Given the description of an element on the screen output the (x, y) to click on. 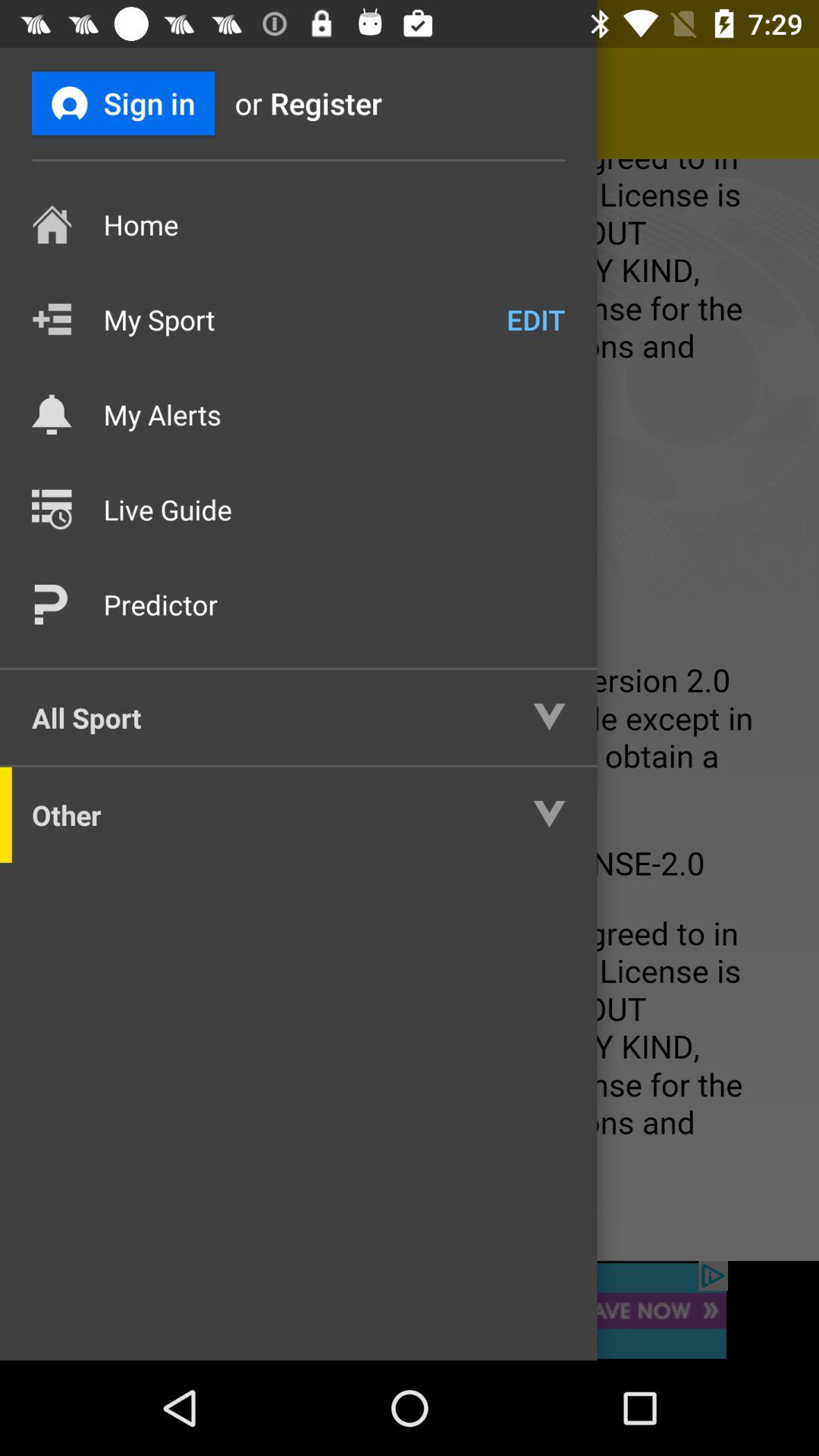
go to advertisement 's webpage (409, 1310)
